Given the description of an element on the screen output the (x, y) to click on. 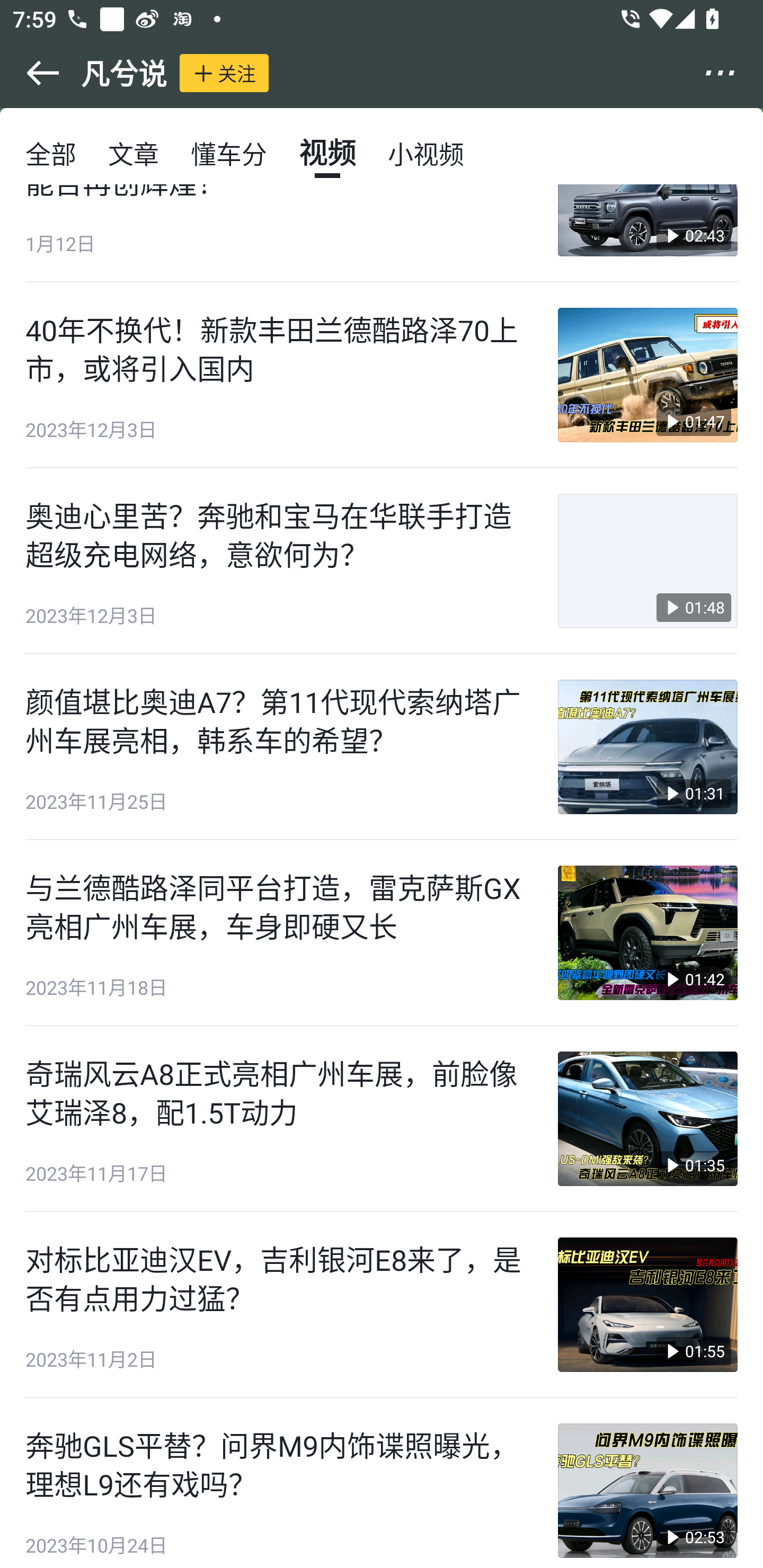
 (30, 72)
 (732, 72)
 关注 (223, 72)
全部 (50, 152)
文章 (133, 152)
懂车分 (228, 152)
视频 (327, 152)
小视频 (425, 152)
大号哈弗猛龙？全新一代哈弗H9来了，能否再创辉煌！ 1月12日  02:43 (381, 233)
40年不换代！新款丰田兰德酷路泽70上市，或将引入国内 2023年12月3日  01:47 (381, 375)
奥迪心里苦？奔驰和宝马在华联手打造超级充电网络，意欲何为？ 2023年12月3日  01:48 (381, 560)
奇瑞风云A8正式亮相广州车展，前脸像艾瑞泽8，配1.5T动力 2023年11月17日  01:35 (381, 1118)
对标比亚迪汉EV，吉利银河E8来了，是否有点用力过猛？ 2023年11月2日  01:55 (381, 1305)
奔驰GLS平替？问界M9内饰谍照曝光，理想L9还有戏吗？ 2023年10月24日  02:53 (381, 1483)
